Given the description of an element on the screen output the (x, y) to click on. 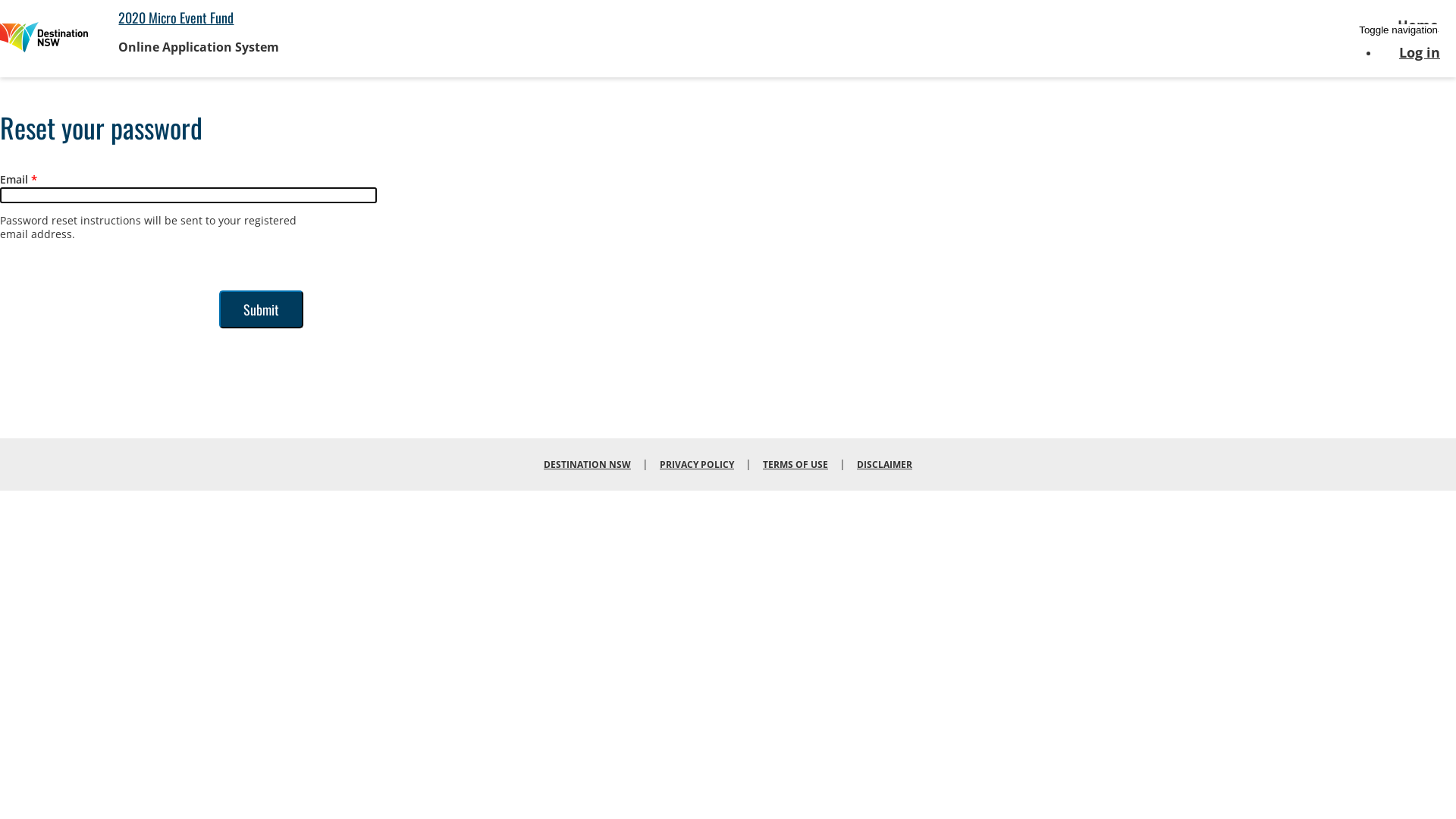
DESTINATION NSW Element type: text (586, 463)
DISCLAIMER Element type: text (884, 463)
Skip to main content Element type: text (0, 0)
2020 Micro Event Fund Element type: text (175, 17)
TERMS OF USE Element type: text (795, 463)
Submit Element type: text (261, 308)
Home Element type: hover (43, 38)
PRIVACY POLICY Element type: text (696, 463)
Toggle navigation Element type: text (1397, 29)
